Given the description of an element on the screen output the (x, y) to click on. 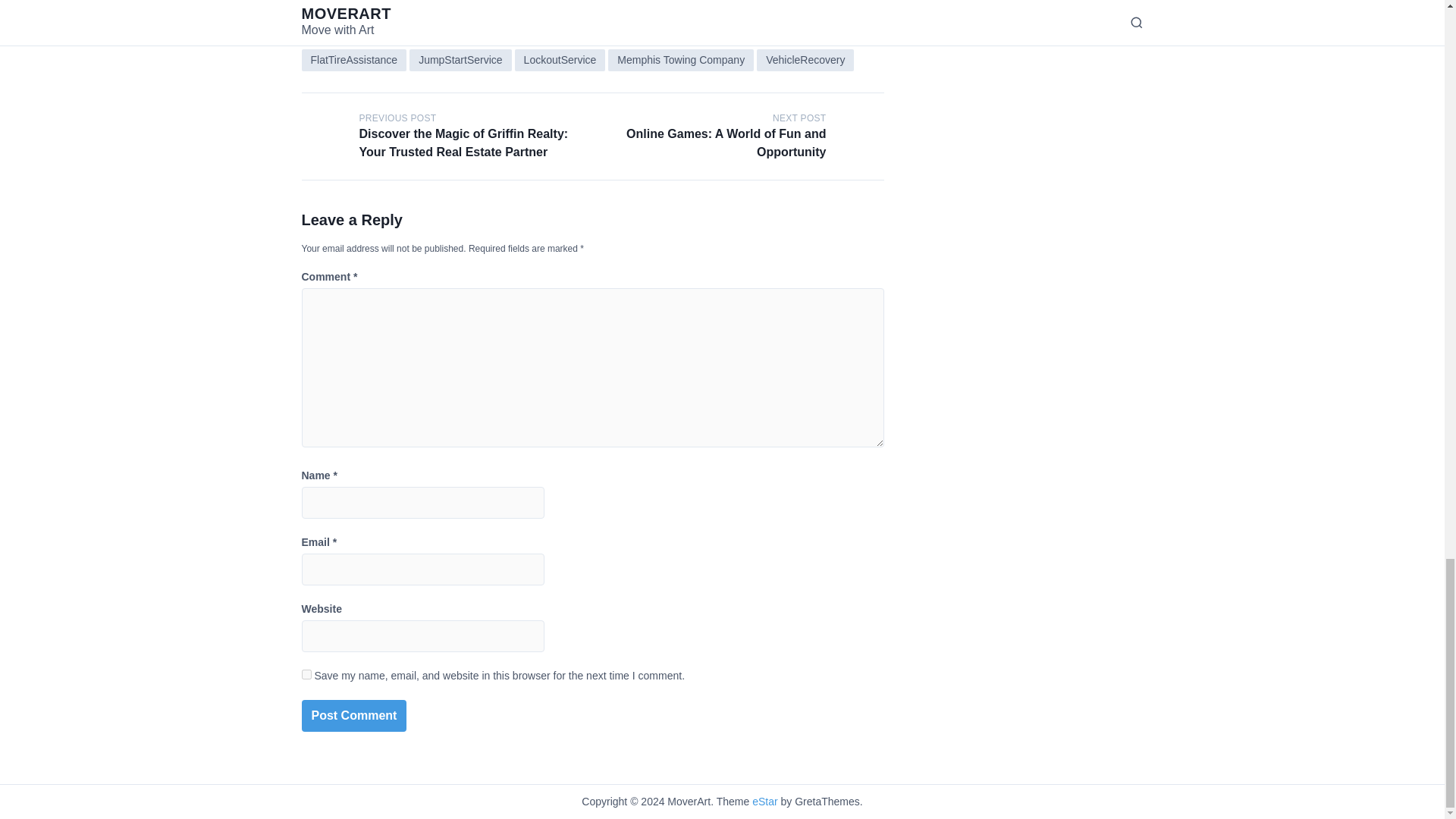
VehicleRecovery (805, 60)
Online Games: A World of Fun and Opportunity (859, 136)
Post Comment (354, 716)
FlatTireAssistance (354, 60)
LockoutService (560, 60)
Memphis Towing Company (681, 60)
Online Games: A World of Fun and Opportunity (725, 142)
JumpStartService (460, 60)
yes (306, 674)
Post Comment (354, 716)
